Given the description of an element on the screen output the (x, y) to click on. 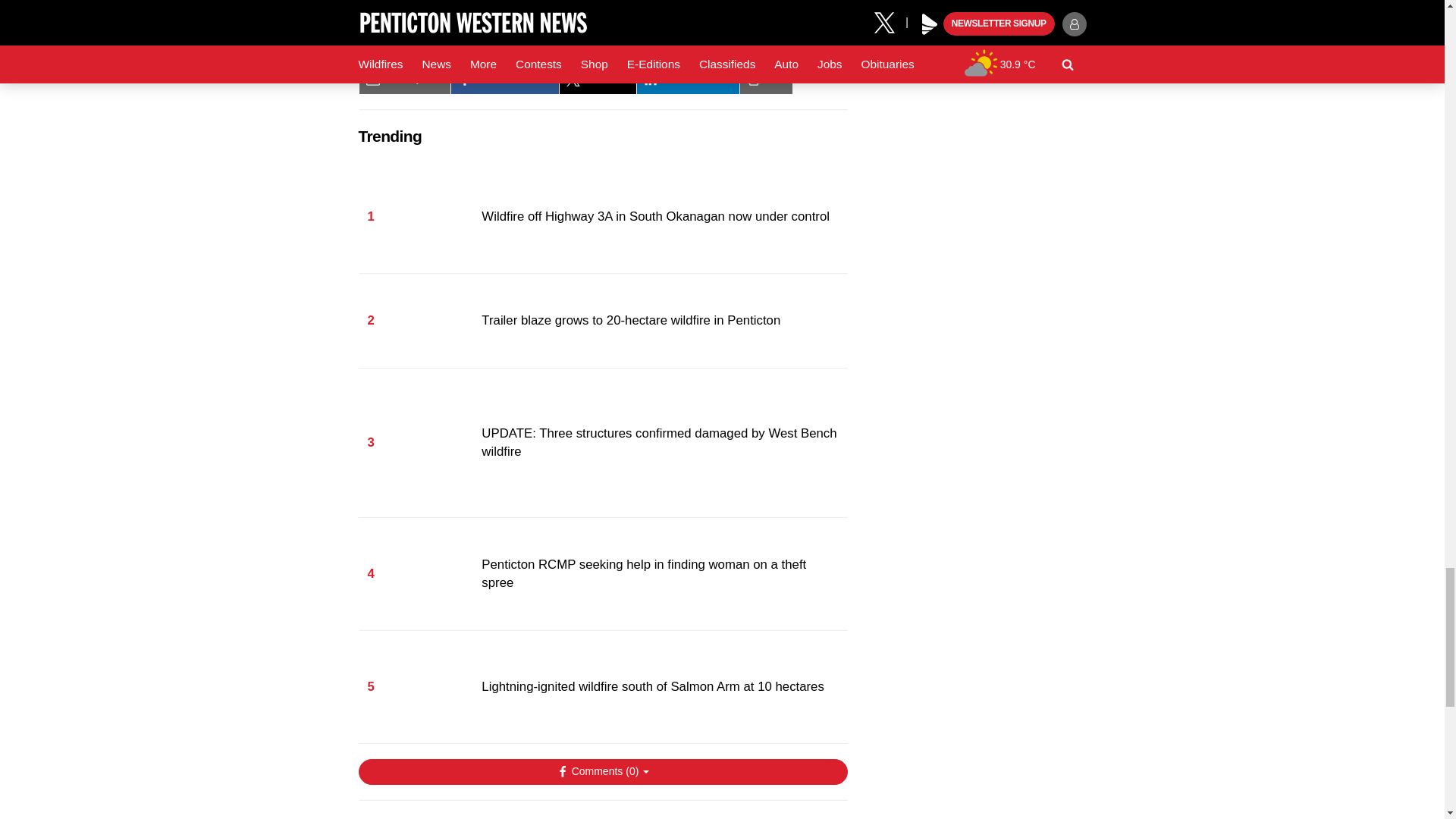
Show Comments (602, 771)
